Given the description of an element on the screen output the (x, y) to click on. 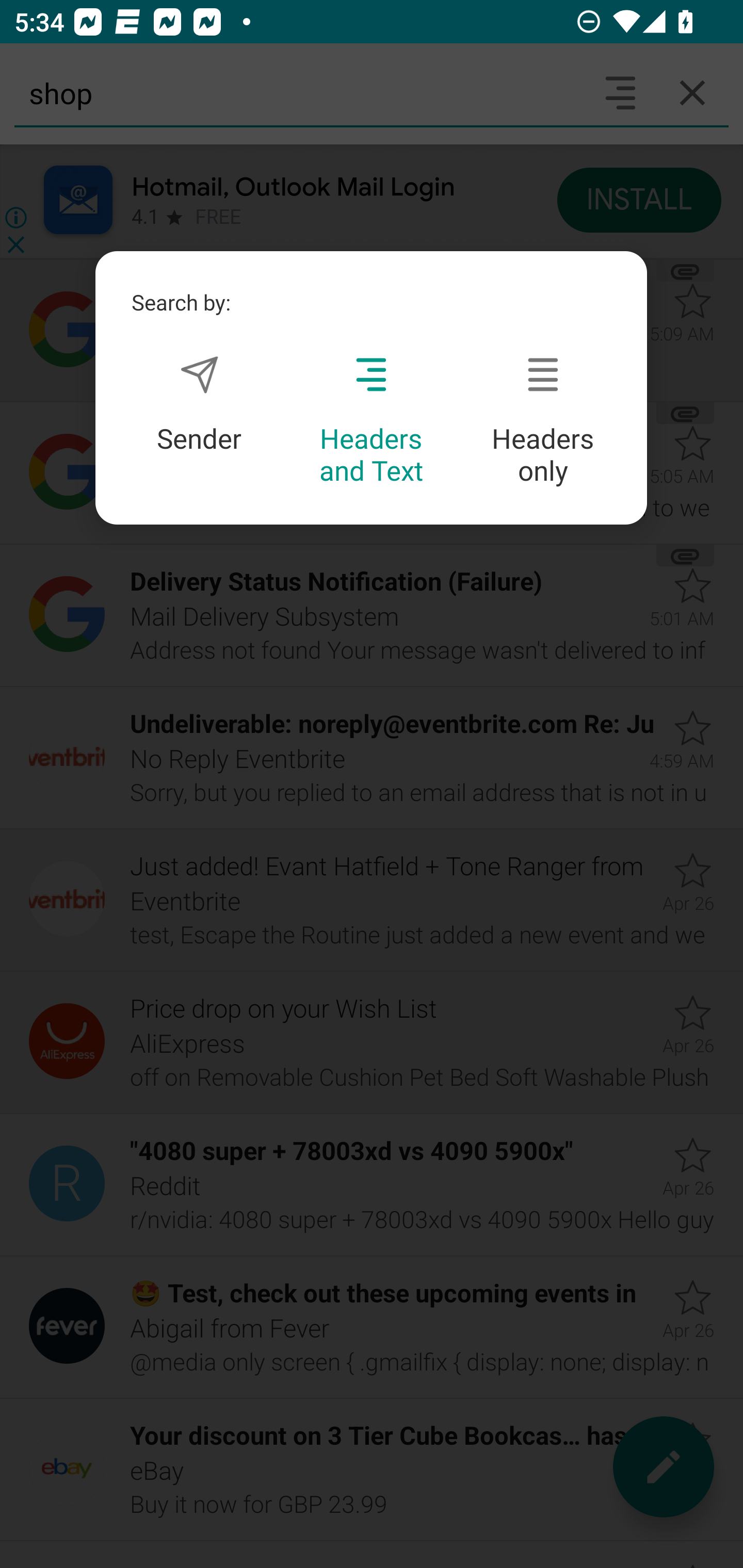
Sender (199, 404)
Headers and Text (371, 420)
Headers only (542, 420)
